Given the description of an element on the screen output the (x, y) to click on. 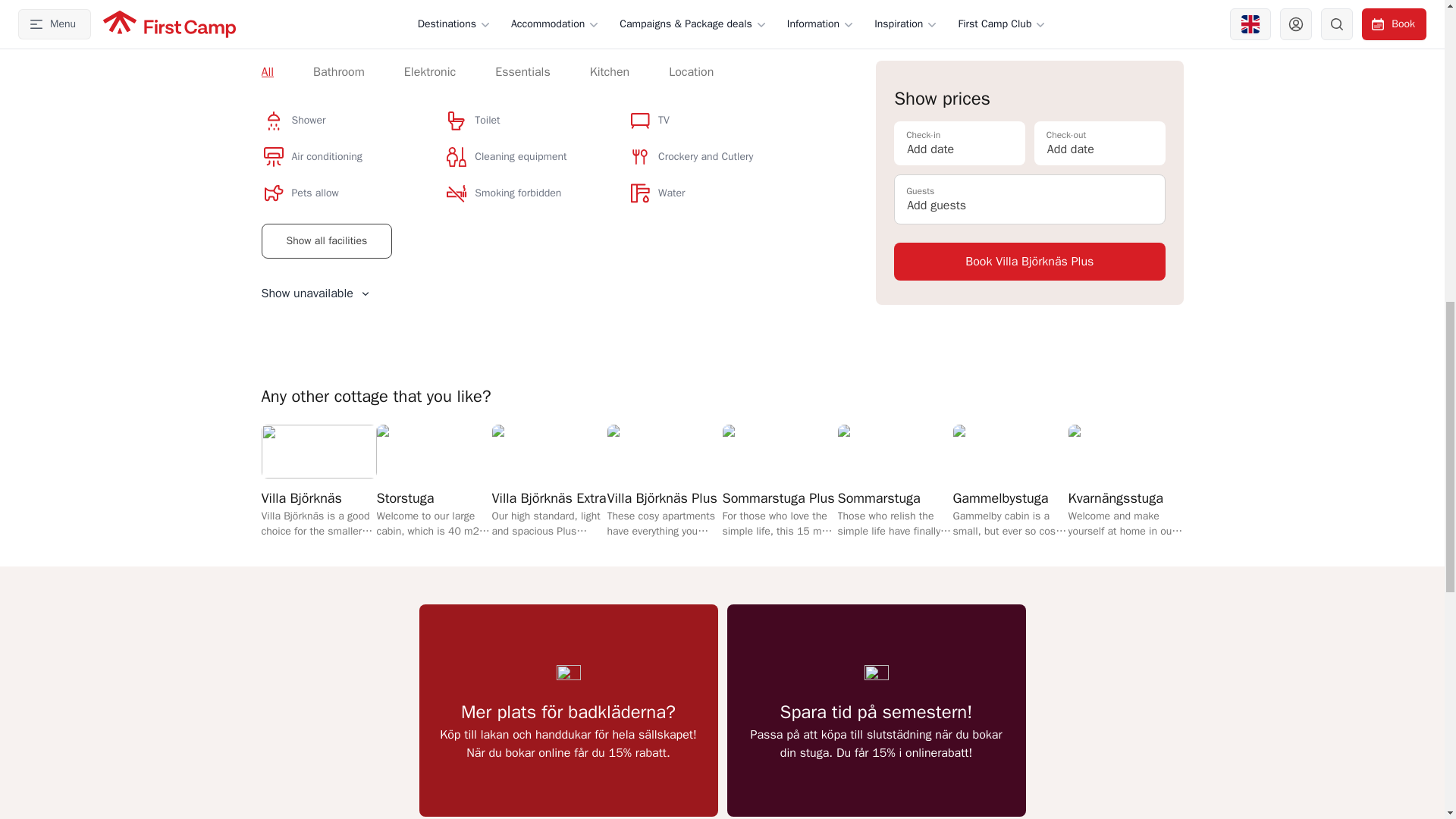
Elektronic (429, 71)
Bathroom (339, 71)
Essentials (522, 71)
Show all facilities (325, 240)
Show unavailable (314, 293)
Kitchen (608, 71)
Location (690, 71)
